Given the description of an element on the screen output the (x, y) to click on. 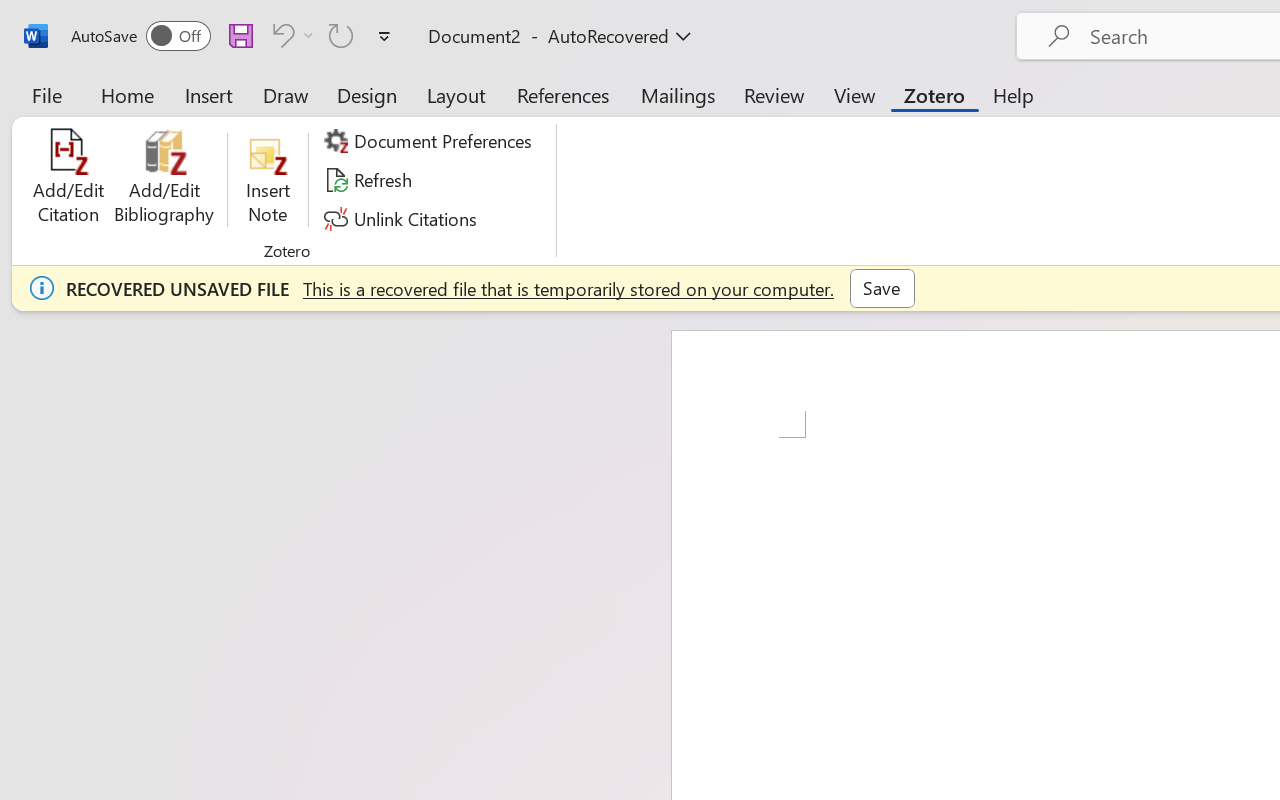
Can't Repeat (341, 35)
Add/Edit Bibliography (164, 179)
Can't Undo (280, 35)
Document Preferences (431, 141)
